Given the description of an element on the screen output the (x, y) to click on. 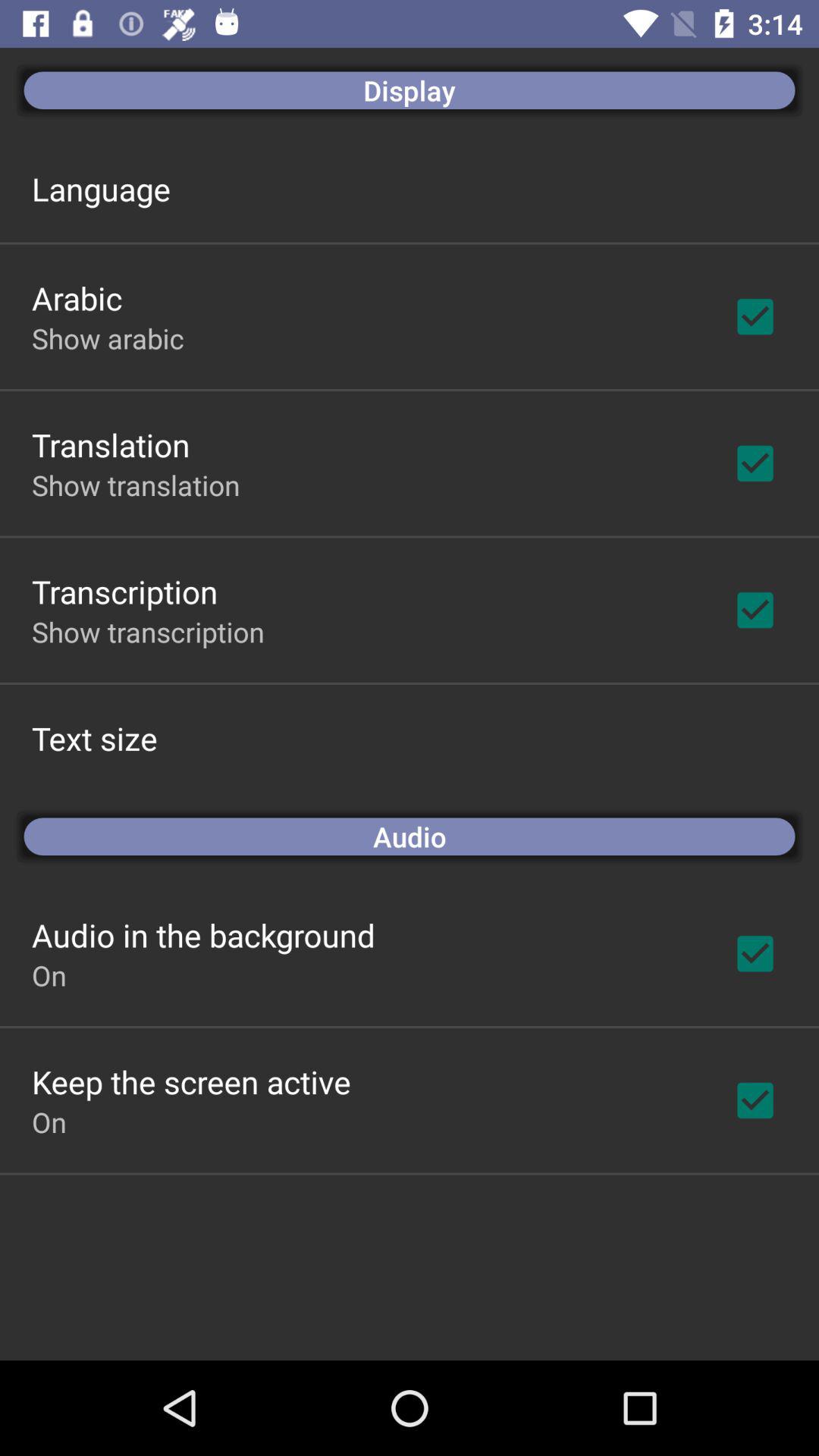
jump to keep the screen icon (190, 1081)
